Given the description of an element on the screen output the (x, y) to click on. 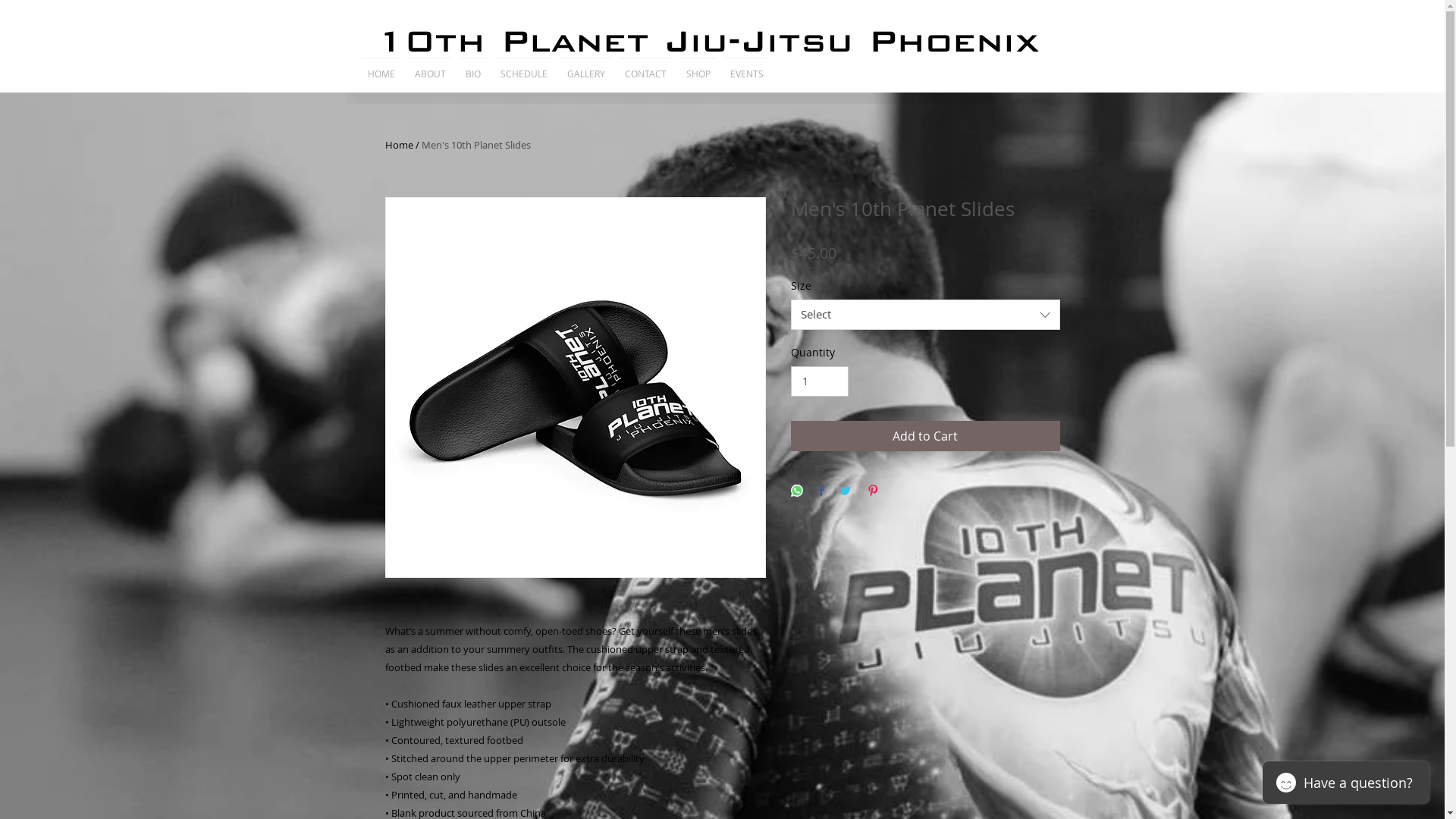
Add to Cart Element type: text (924, 435)
HOME Element type: text (380, 66)
Select Element type: text (924, 314)
Men's 10th Planet Slides Element type: text (475, 144)
GALLERY Element type: text (585, 66)
BIO Element type: text (472, 66)
SHOP Element type: text (698, 66)
ABOUT Element type: text (429, 66)
Home Element type: text (399, 144)
CONTACT Element type: text (644, 66)
SCHEDULE Element type: text (522, 66)
EVENTS Element type: text (746, 66)
